Given the description of an element on the screen output the (x, y) to click on. 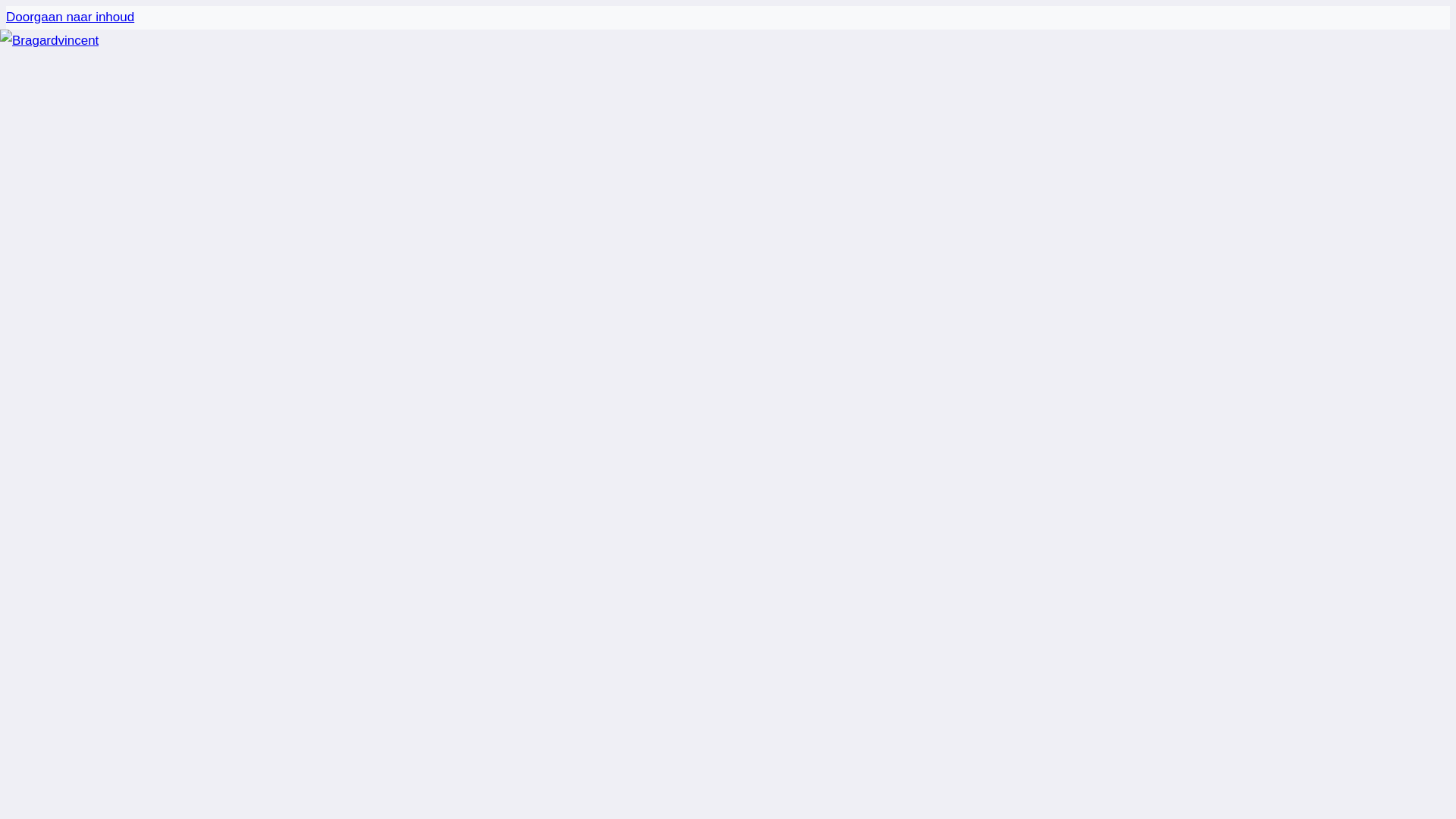
Doorgaan naar inhoud Element type: text (70, 16)
